Given the description of an element on the screen output the (x, y) to click on. 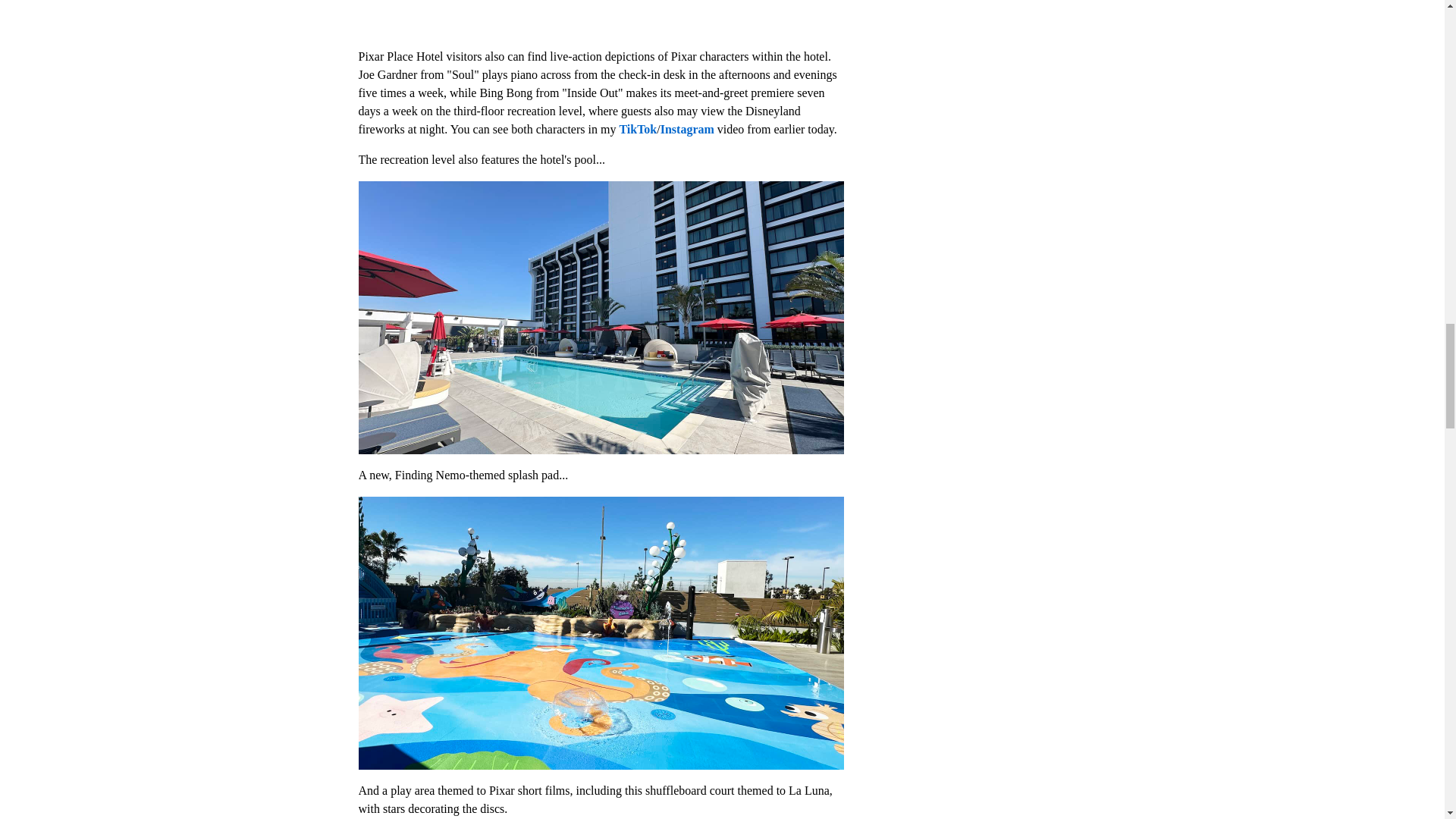
YouTube video player (600, 18)
TikTok (637, 128)
Instagram (687, 128)
